Given the description of an element on the screen output the (x, y) to click on. 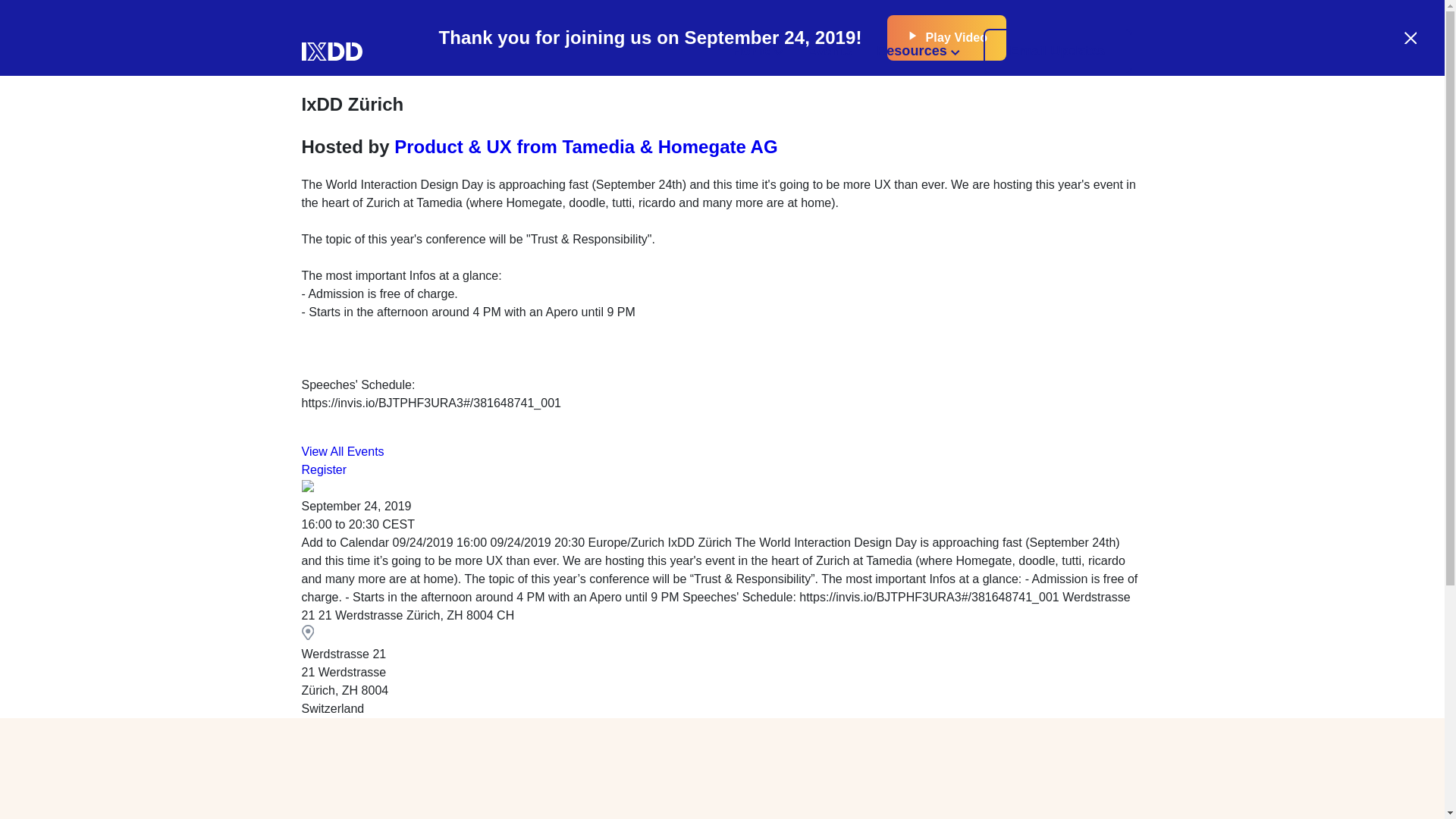
View All Events (342, 451)
Register (324, 469)
Email Updates (1056, 51)
Events (829, 51)
Home (756, 51)
Resources (917, 51)
Add to Calendar (721, 578)
